Given the description of an element on the screen output the (x, y) to click on. 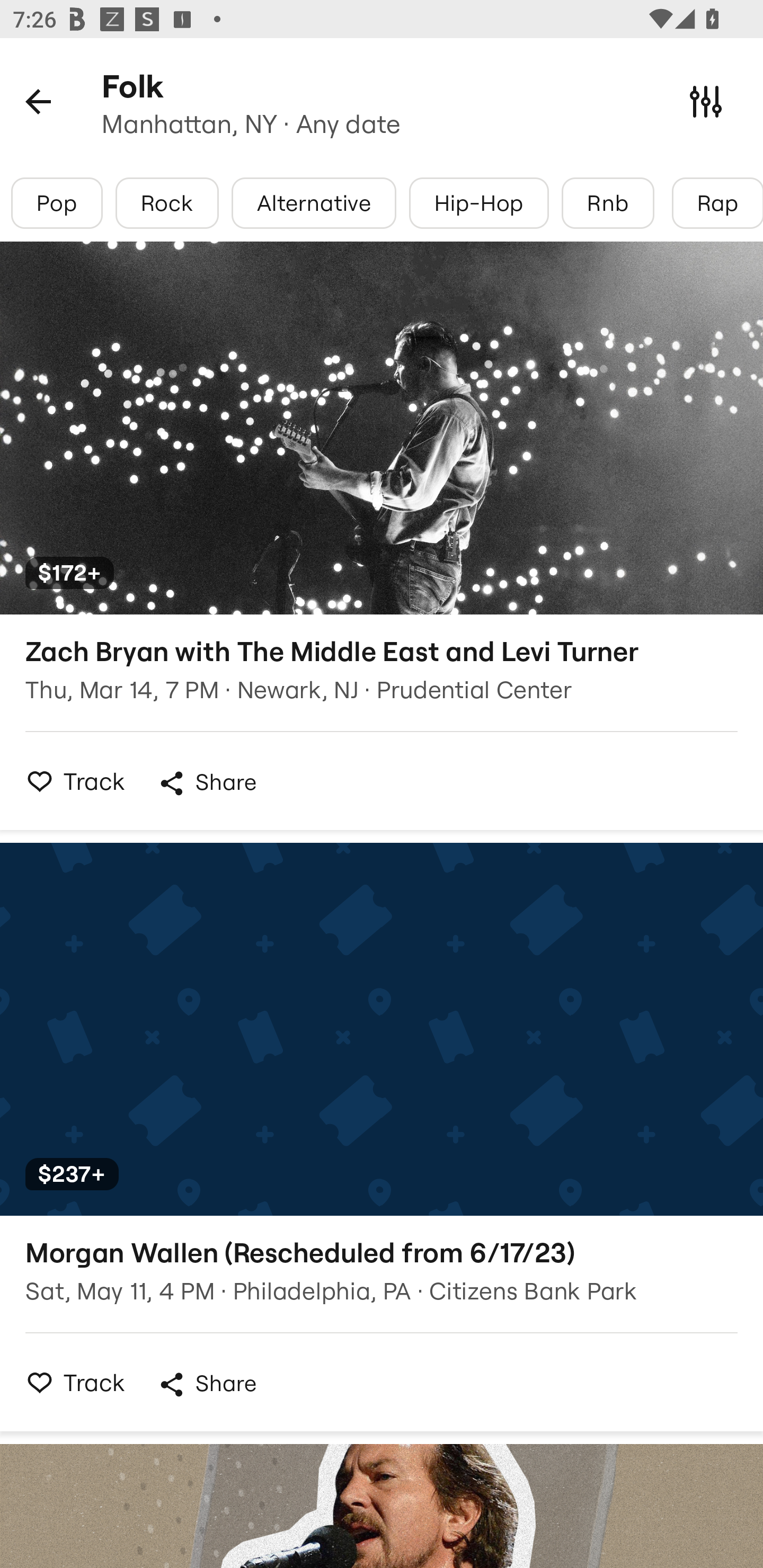
Back (38, 100)
Filters (705, 100)
Pop (57, 202)
Rock (166, 202)
Alternative (313, 202)
Hip-Hop (478, 202)
Rnb (607, 202)
Rap (717, 202)
Track (70, 780)
Share (207, 783)
Track (70, 1381)
Share (207, 1384)
